Given the description of an element on the screen output the (x, y) to click on. 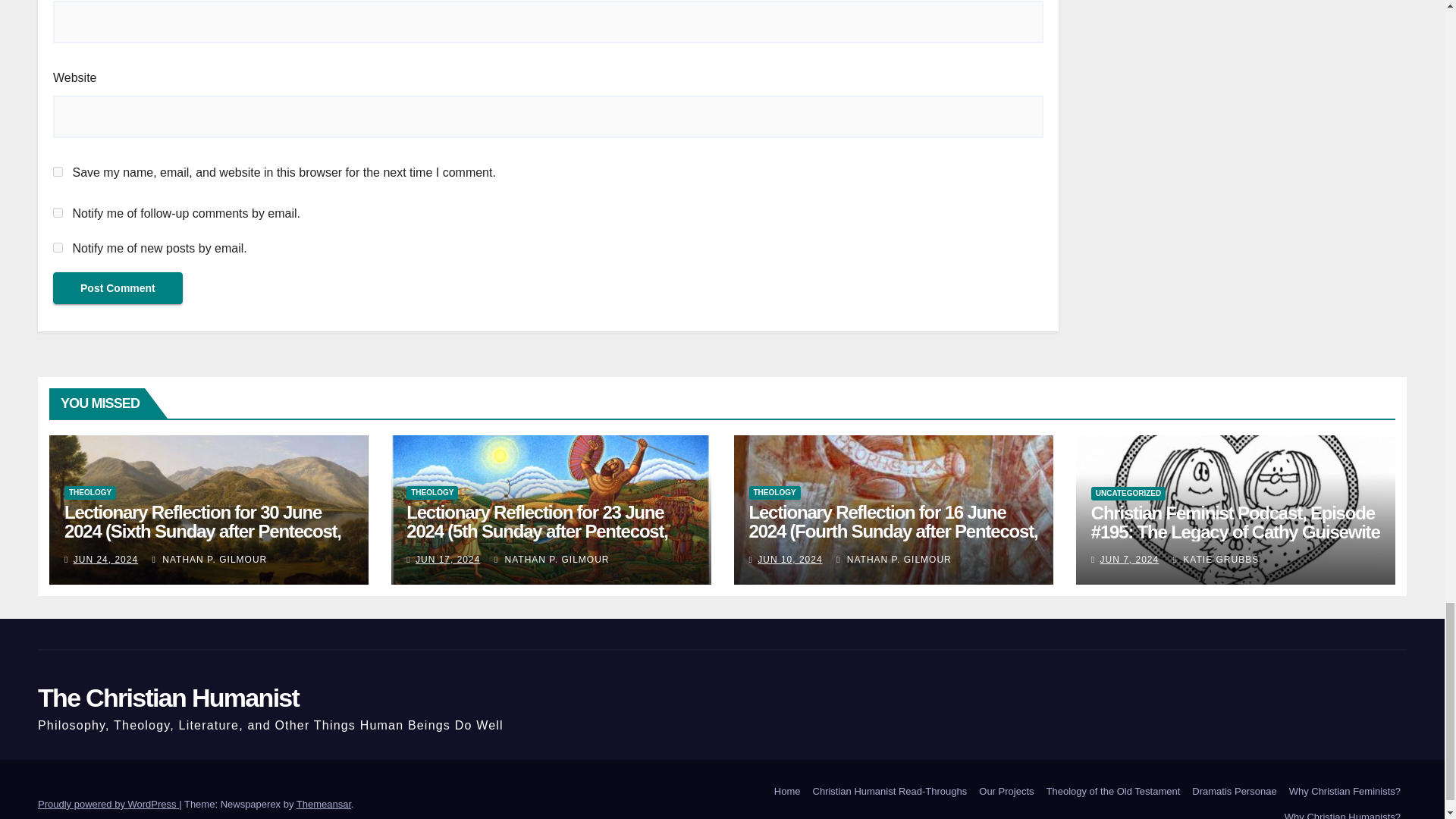
subscribe (57, 212)
Post Comment (117, 287)
yes (57, 171)
subscribe (57, 247)
